Given the description of an element on the screen output the (x, y) to click on. 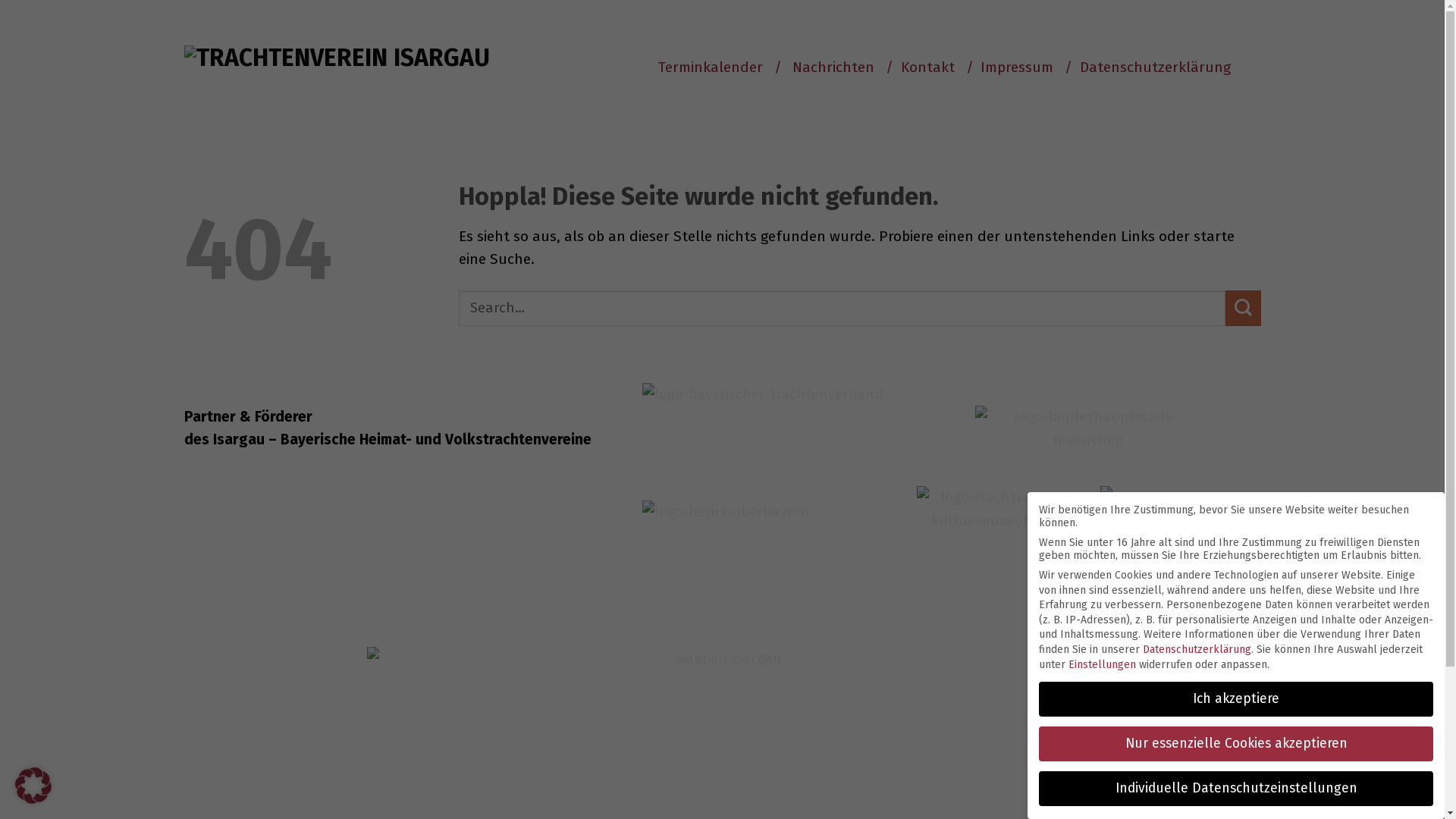
Nachrichten   / Element type: text (841, 67)
Impressum   / Element type: text (1025, 67)
Trachtenverein Isargau Element type: hover (544, 135)
Einstellungen Element type: text (1101, 664)
Ich akzeptiere Element type: text (1235, 698)
Terminkalender   / Element type: text (718, 67)
Kontakt   / Element type: text (936, 67)
Individuelle Datenschutzeinstellungen Element type: text (1235, 788)
Nur essenzielle Cookies akzeptieren Element type: text (1235, 743)
